Given the description of an element on the screen output the (x, y) to click on. 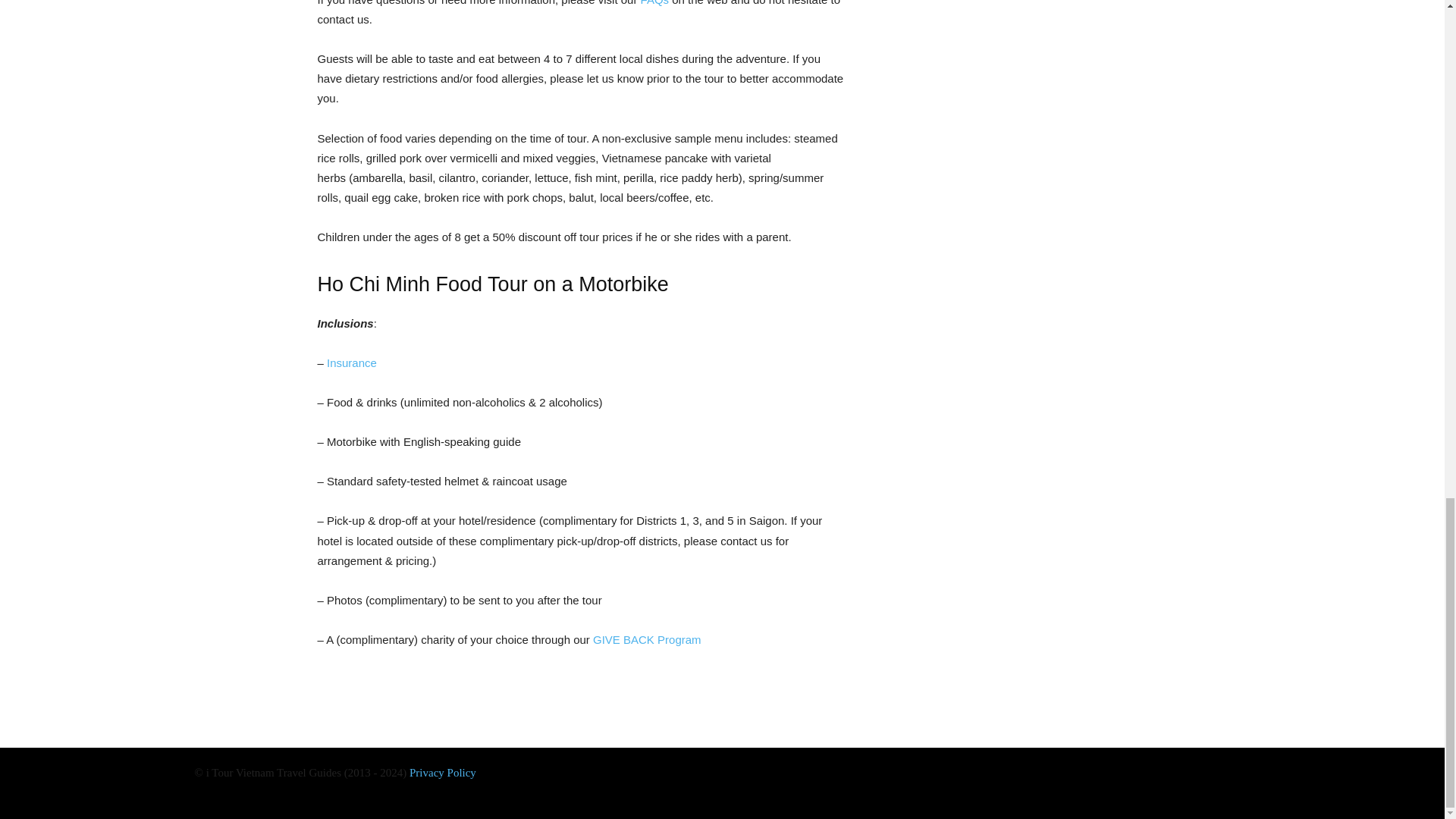
Insurance (351, 362)
Privacy Policy (442, 772)
GIVE BACK Program (646, 639)
FAQs (654, 2)
